Given the description of an element on the screen output the (x, y) to click on. 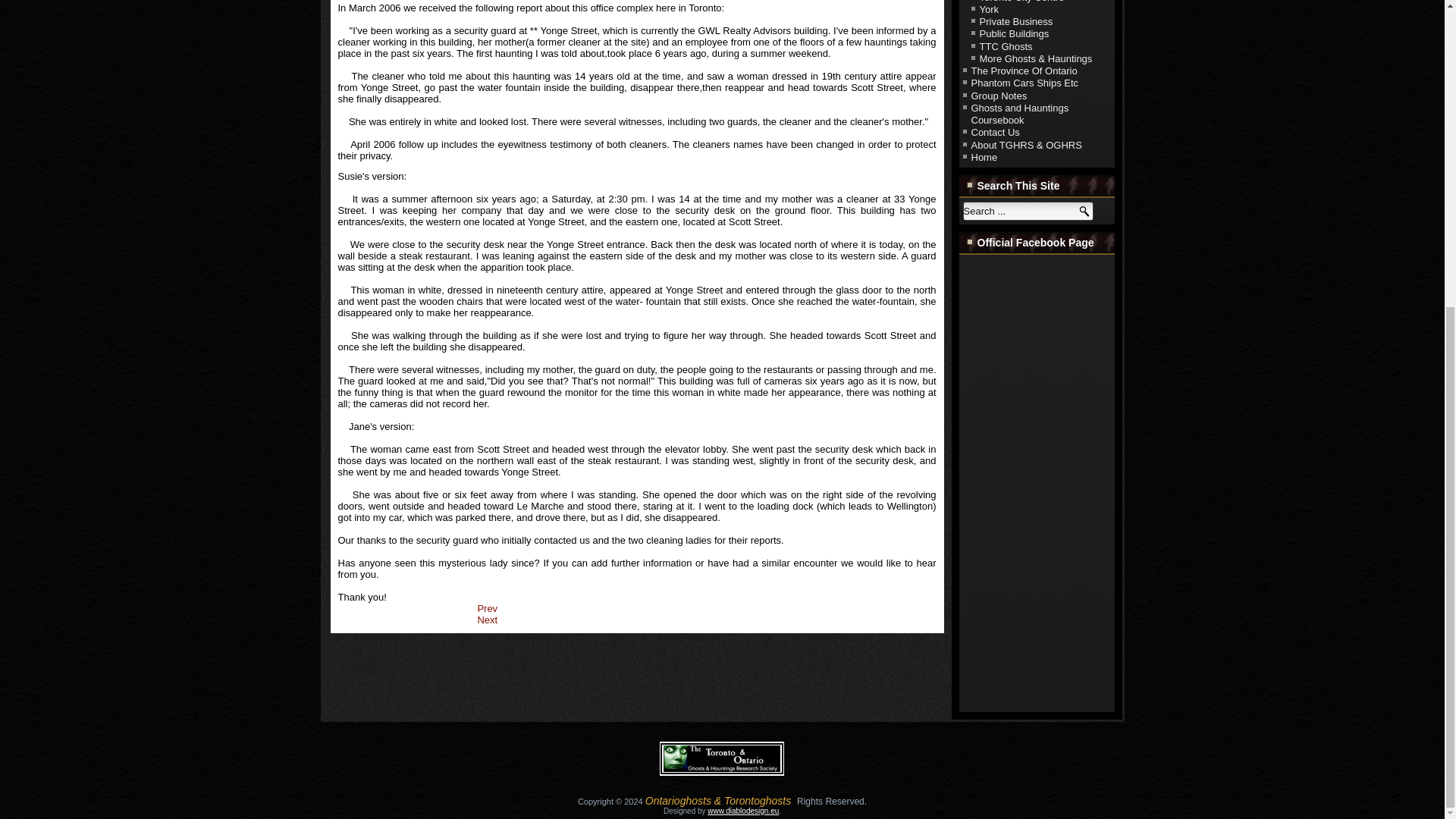
Home (984, 156)
www.diablodesign.eu (742, 810)
Prev (487, 608)
The Province Of Ontario (1024, 70)
Private Business (1015, 21)
Toronto City Centre (1021, 1)
York (988, 9)
Phantom Cars Ships Etc (1024, 82)
Contact Us (995, 132)
Ghosts and Hauntings Coursebook (1019, 114)
TTC Ghosts (1005, 45)
Next (487, 619)
Group Notes (998, 95)
Public Buildings (1014, 33)
Search ... (1027, 210)
